Given the description of an element on the screen output the (x, y) to click on. 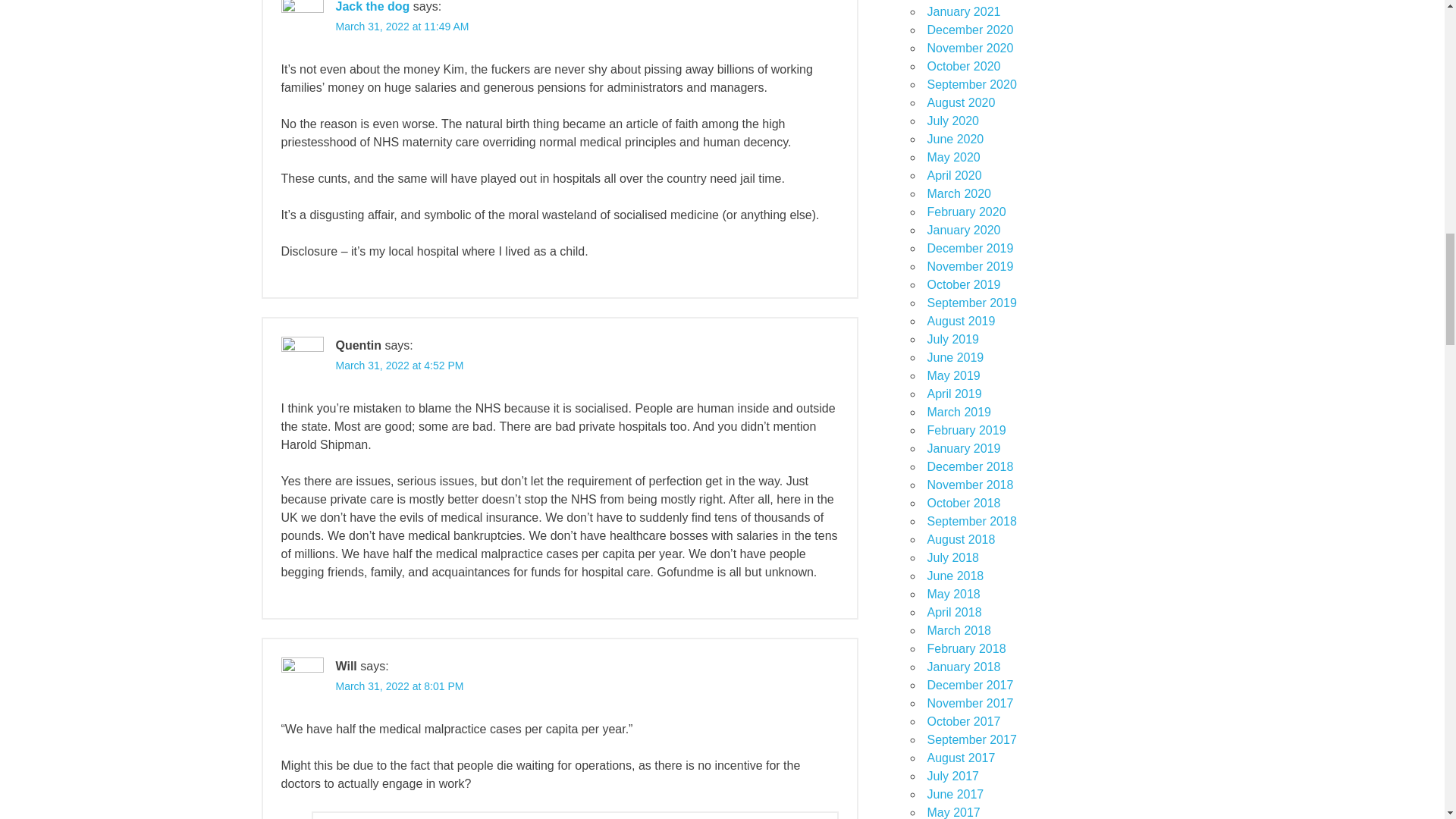
March 31, 2022 at 8:01 PM (398, 686)
March 31, 2022 at 4:52 PM (398, 365)
Jack the dog (371, 6)
March 31, 2022 at 11:49 AM (401, 26)
